Given the description of an element on the screen output the (x, y) to click on. 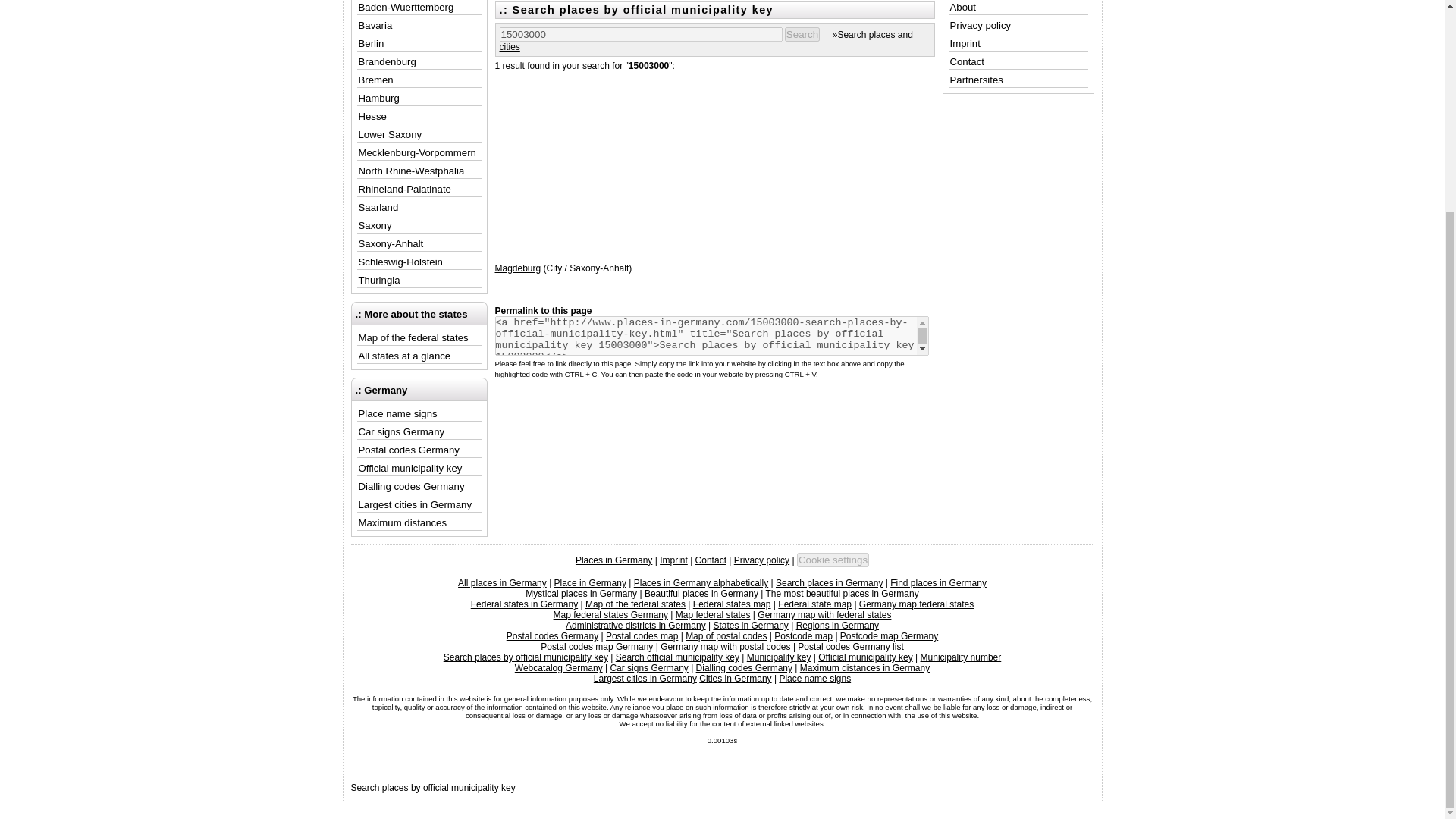
15003000 (640, 34)
Search (801, 34)
